Given the description of an element on the screen output the (x, y) to click on. 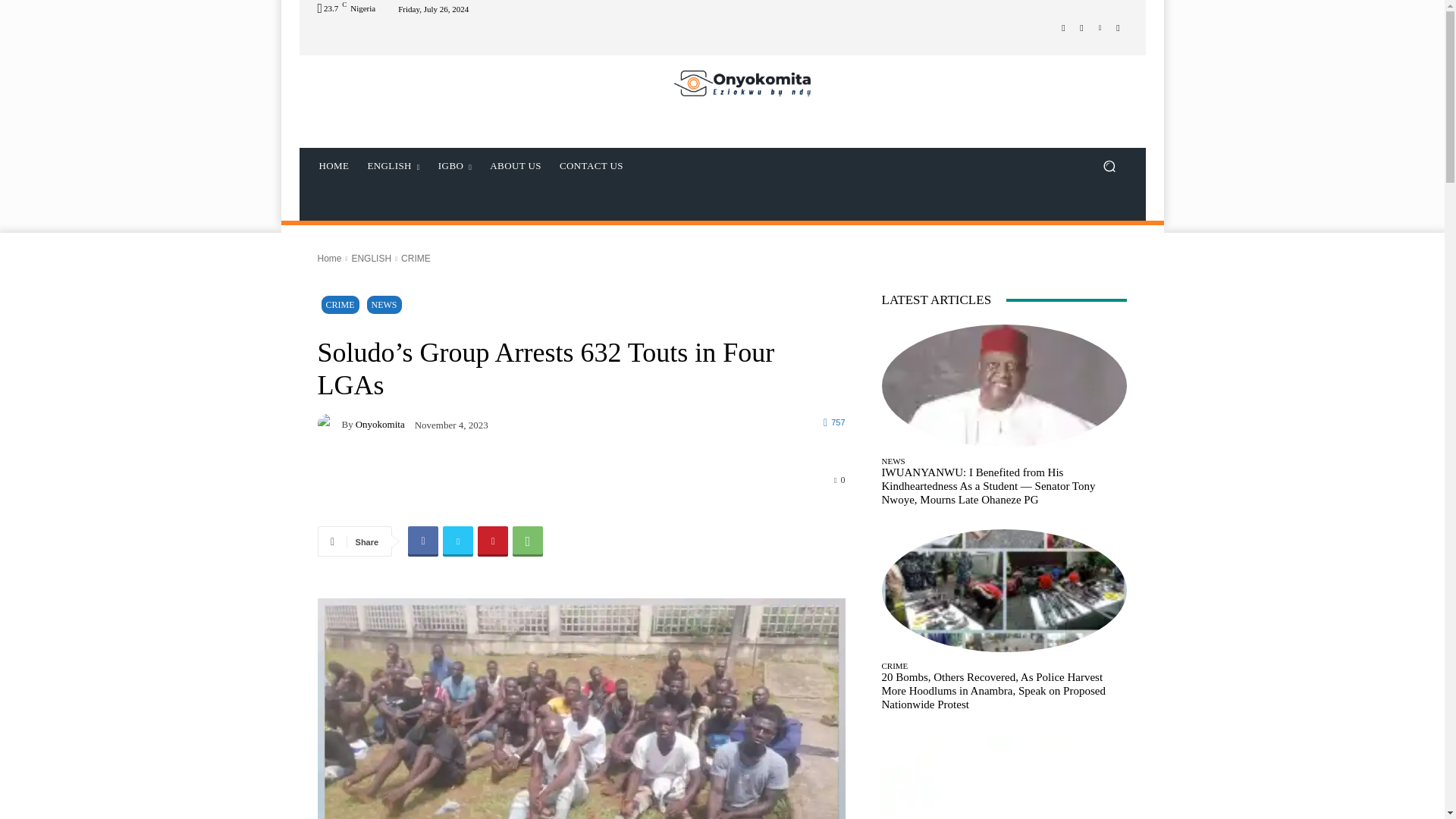
ENGLISH (393, 166)
Youtube (1117, 27)
View all posts in ENGLISH (370, 258)
onyokomita (328, 424)
Facebook (422, 541)
Instagram (1080, 27)
Facebook (1062, 27)
View all posts in CRIME (415, 258)
HOME (333, 166)
Twitter (1099, 27)
Twitter (457, 541)
